Given the description of an element on the screen output the (x, y) to click on. 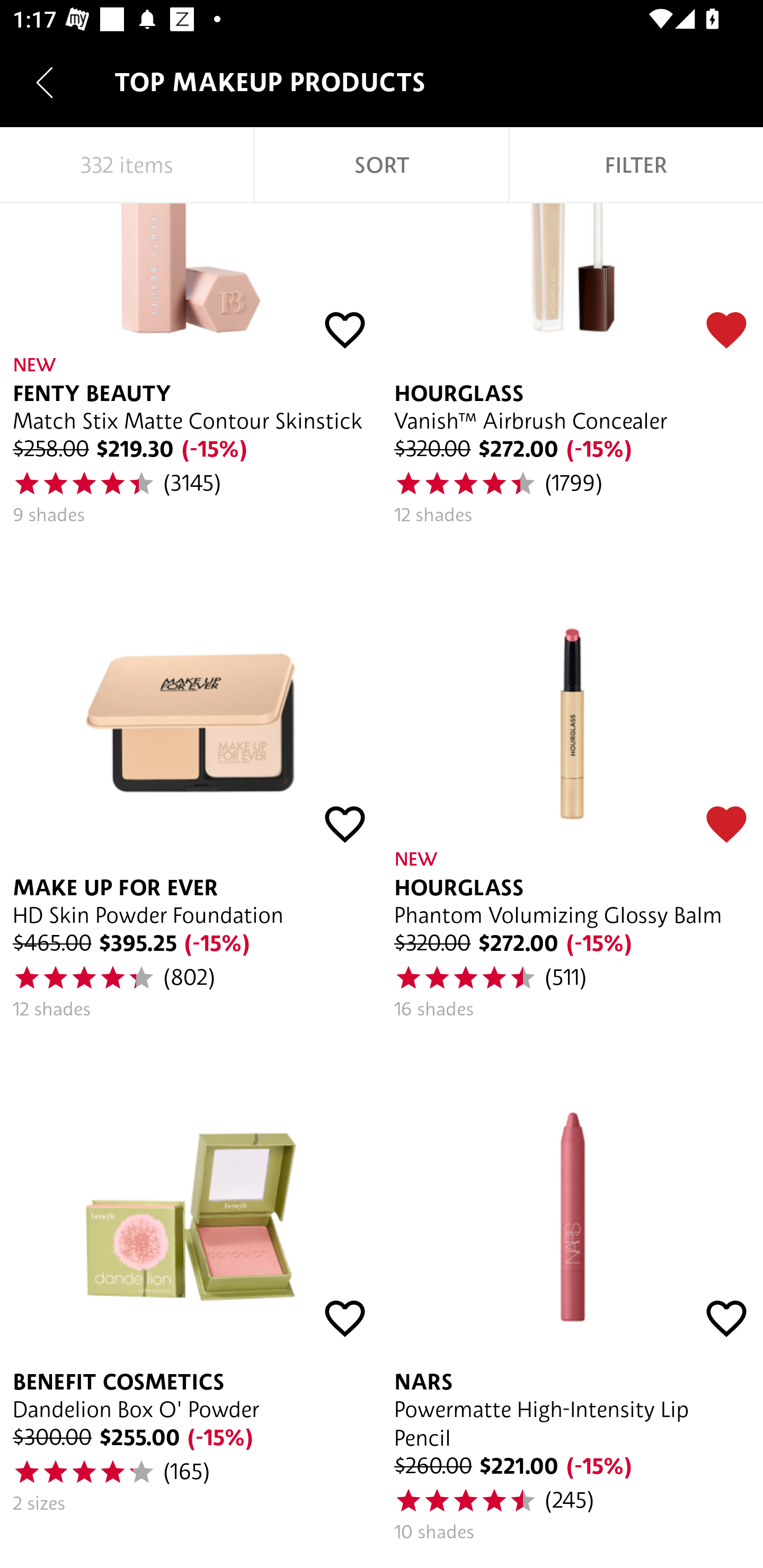
Navigate up (44, 82)
SORT (381, 165)
FILTER (636, 165)
